Given the description of an element on the screen output the (x, y) to click on. 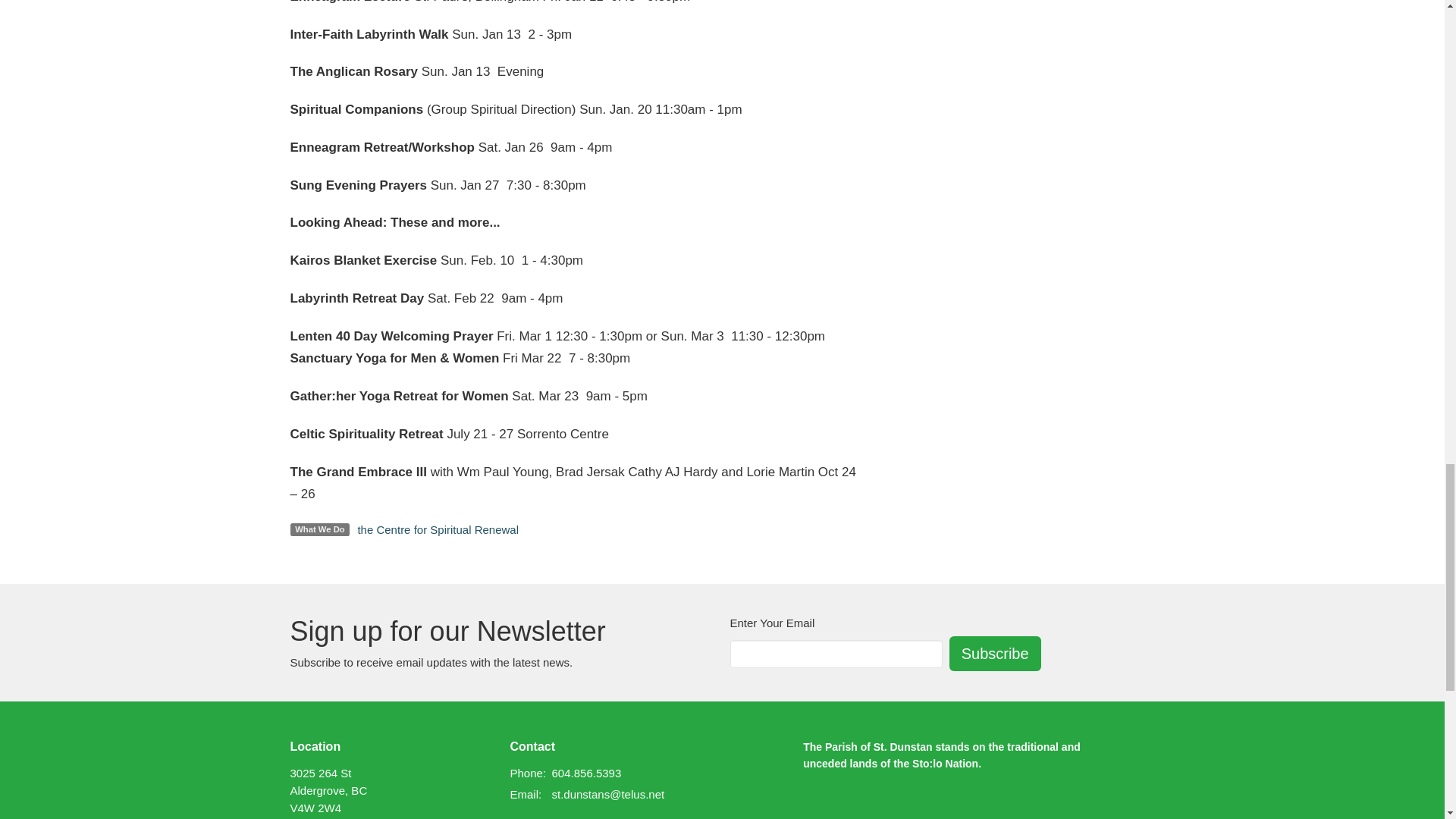
the Centre for Spiritual Renewal (437, 529)
604.856.5393 (586, 773)
translation missing: en.ui.email (523, 793)
Subscribe (995, 653)
